Given the description of an element on the screen output the (x, y) to click on. 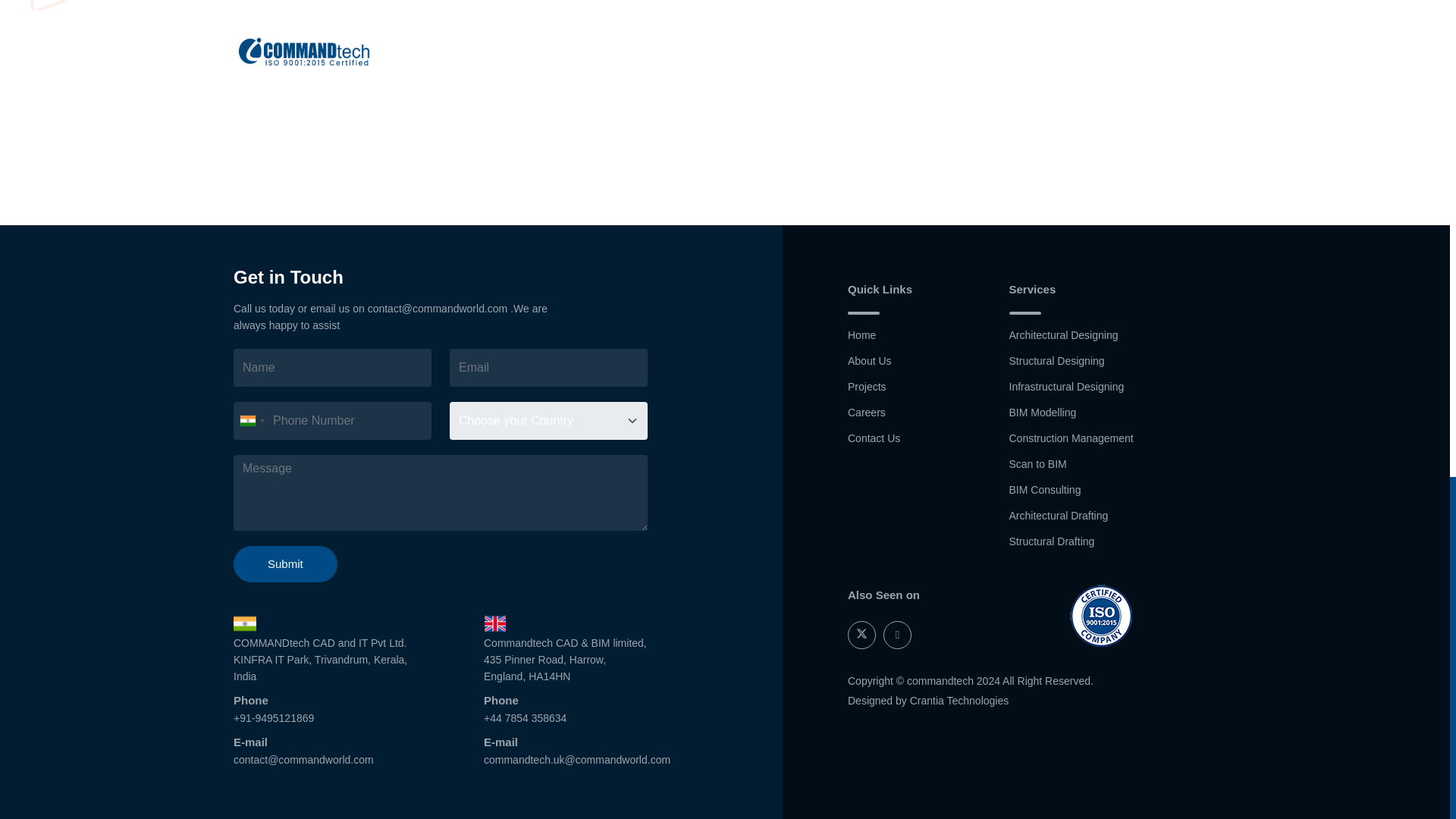
Submit (284, 564)
